Given the description of an element on the screen output the (x, y) to click on. 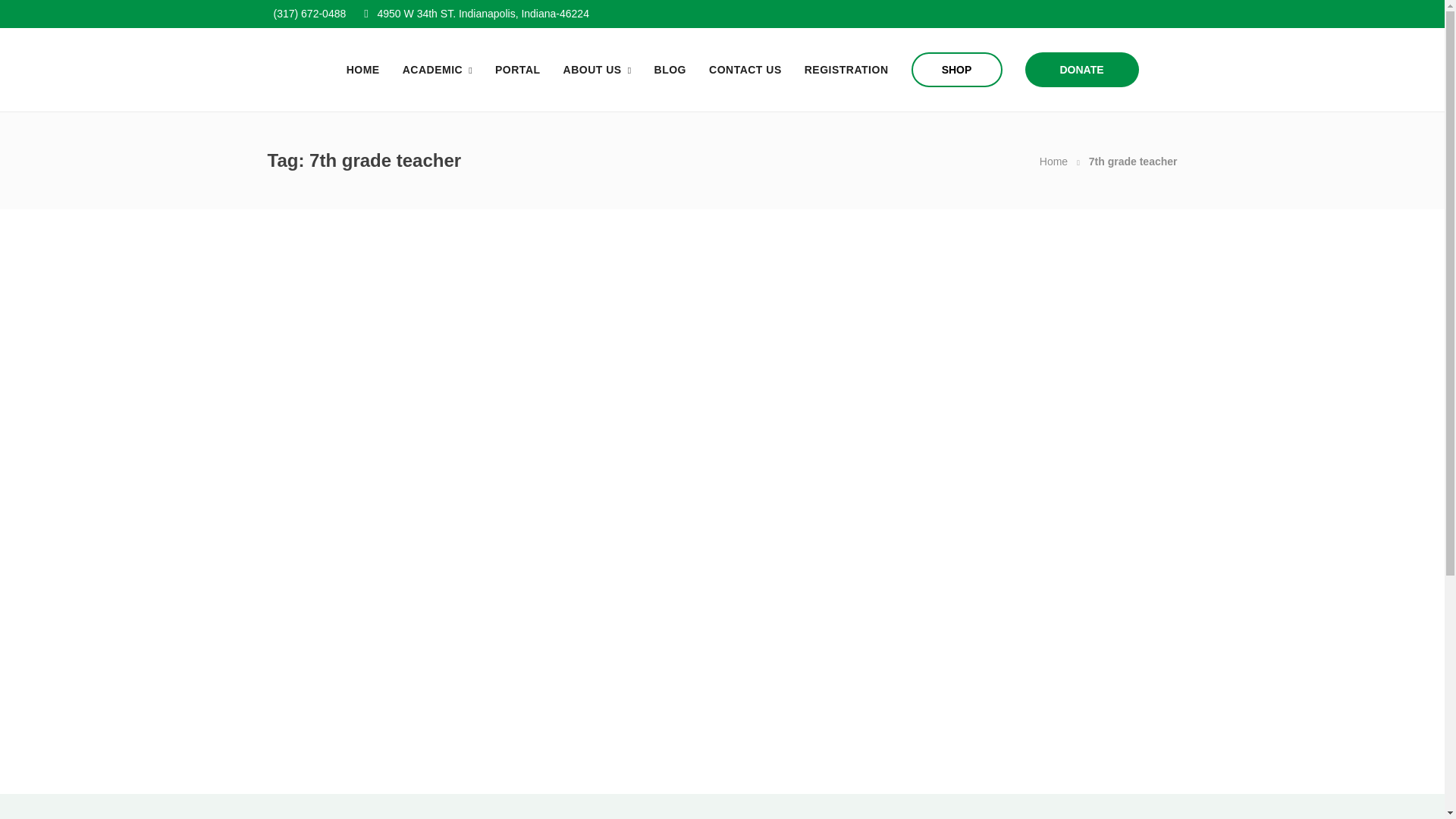
ABOUT US (597, 69)
REGISTRATION (846, 69)
DONATE (1081, 69)
Home (1053, 161)
SHOP (957, 69)
CONTACT US (745, 69)
Home (1053, 161)
ACADEMIC (437, 69)
